Given the description of an element on the screen output the (x, y) to click on. 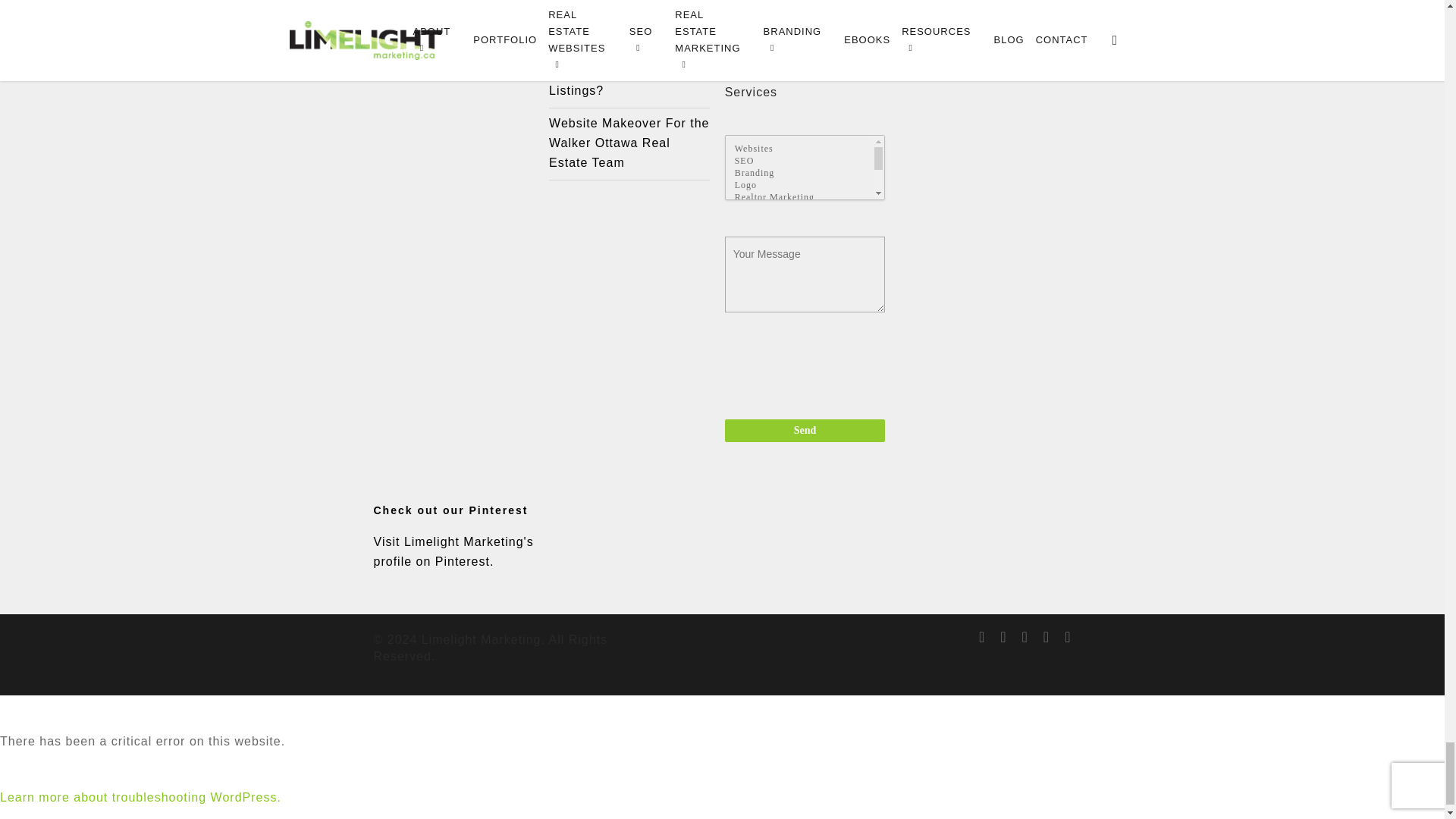
Send (805, 430)
